Given the description of an element on the screen output the (x, y) to click on. 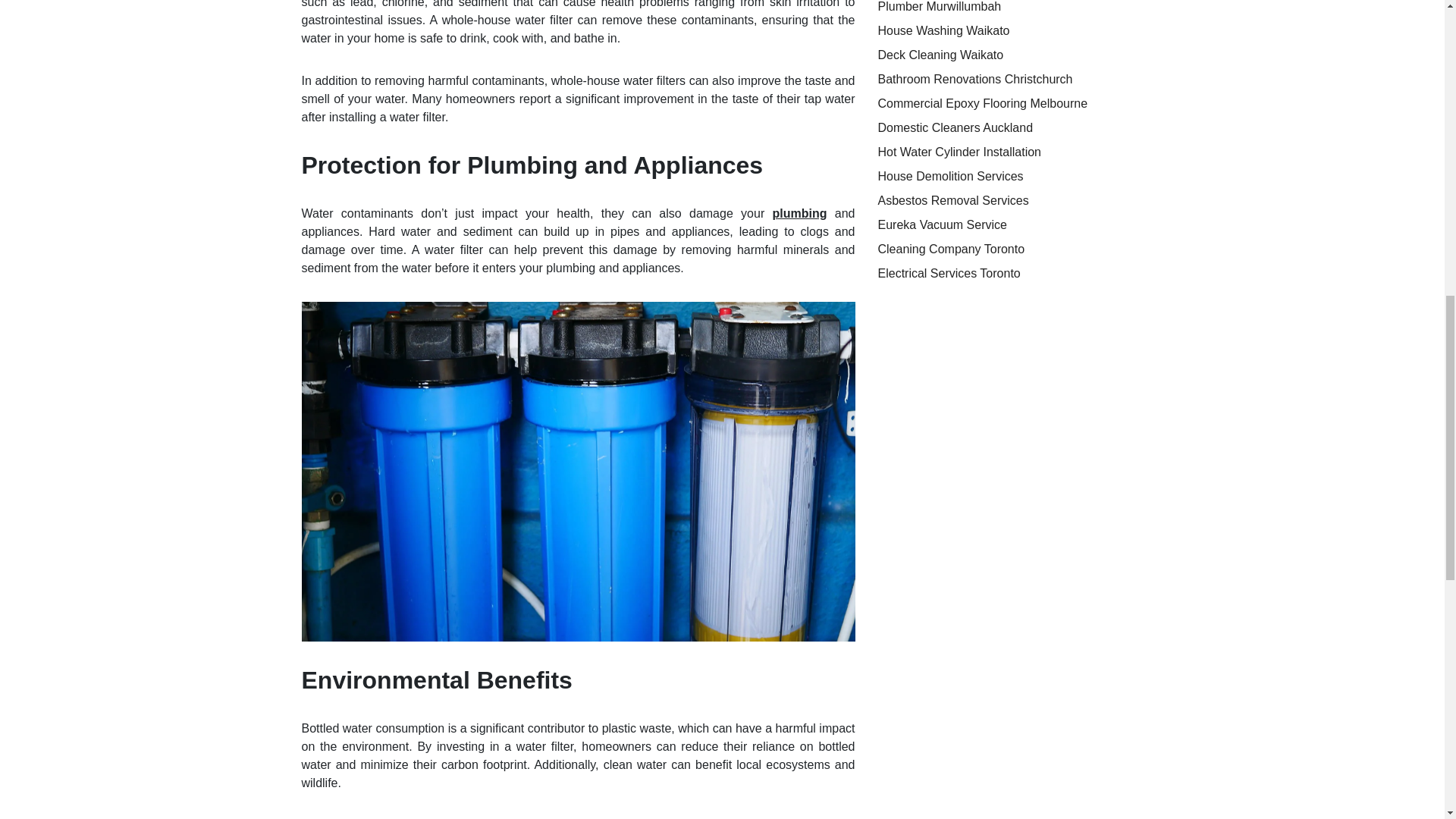
plumbing (800, 213)
Bathroom Renovations Christchurch (975, 78)
Asbestos Removal Services (953, 200)
Eureka Vacuum Service (942, 224)
Plumber Murwillumbah (939, 6)
House Demolition Services (950, 175)
House Washing Waikato (943, 30)
Deck Cleaning Waikato (940, 54)
Commercial Epoxy Flooring Melbourne (982, 103)
Hot Water Cylinder Installation (959, 151)
Domestic Cleaners Auckland (955, 127)
Cleaning Company Toronto (951, 248)
